Given the description of an element on the screen output the (x, y) to click on. 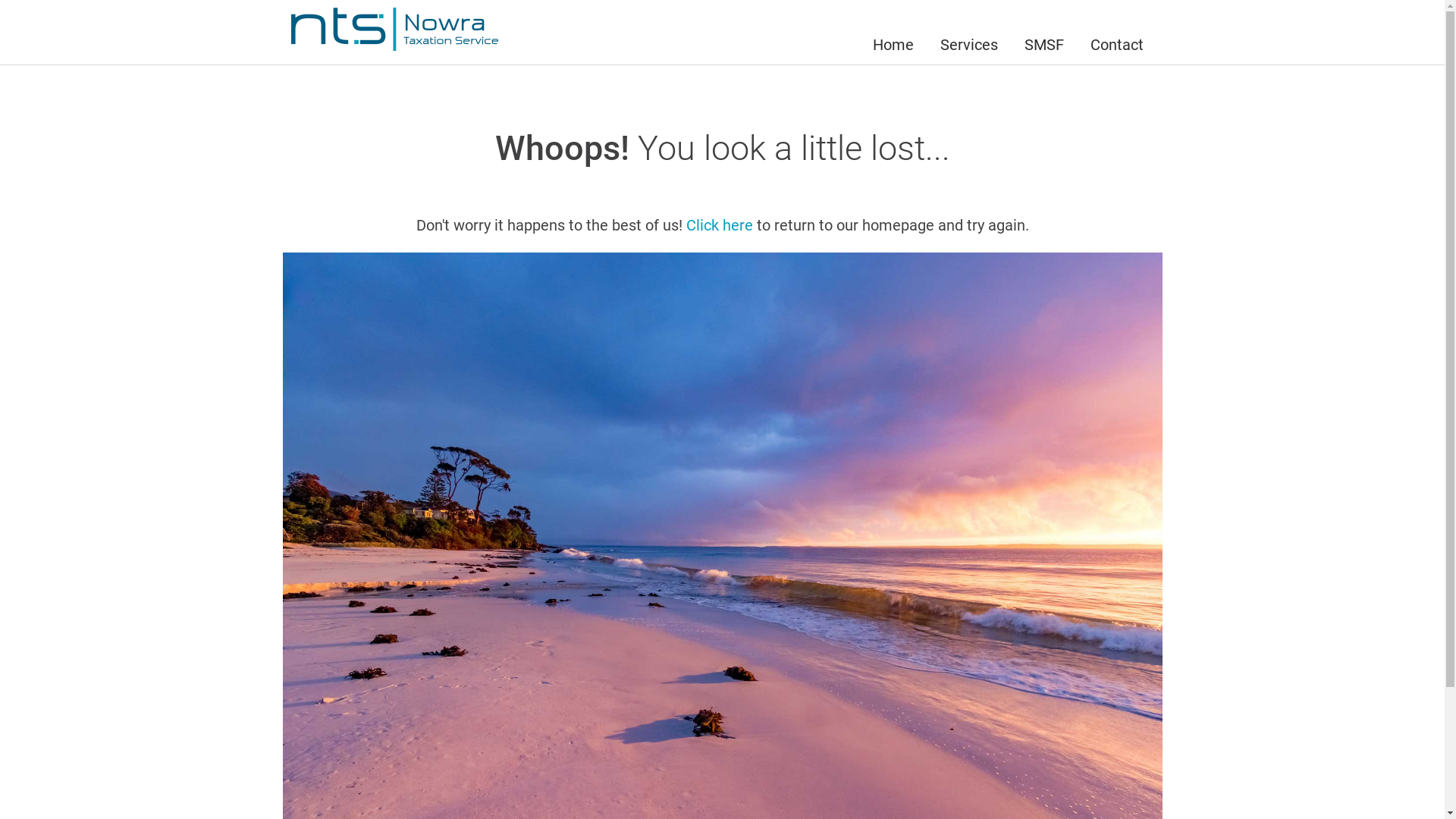
Contact Element type: text (1116, 32)
SMSF Element type: text (1044, 32)
Home Element type: text (893, 32)
Click here Element type: text (718, 225)
Services Element type: text (968, 32)
